Given the description of an element on the screen output the (x, y) to click on. 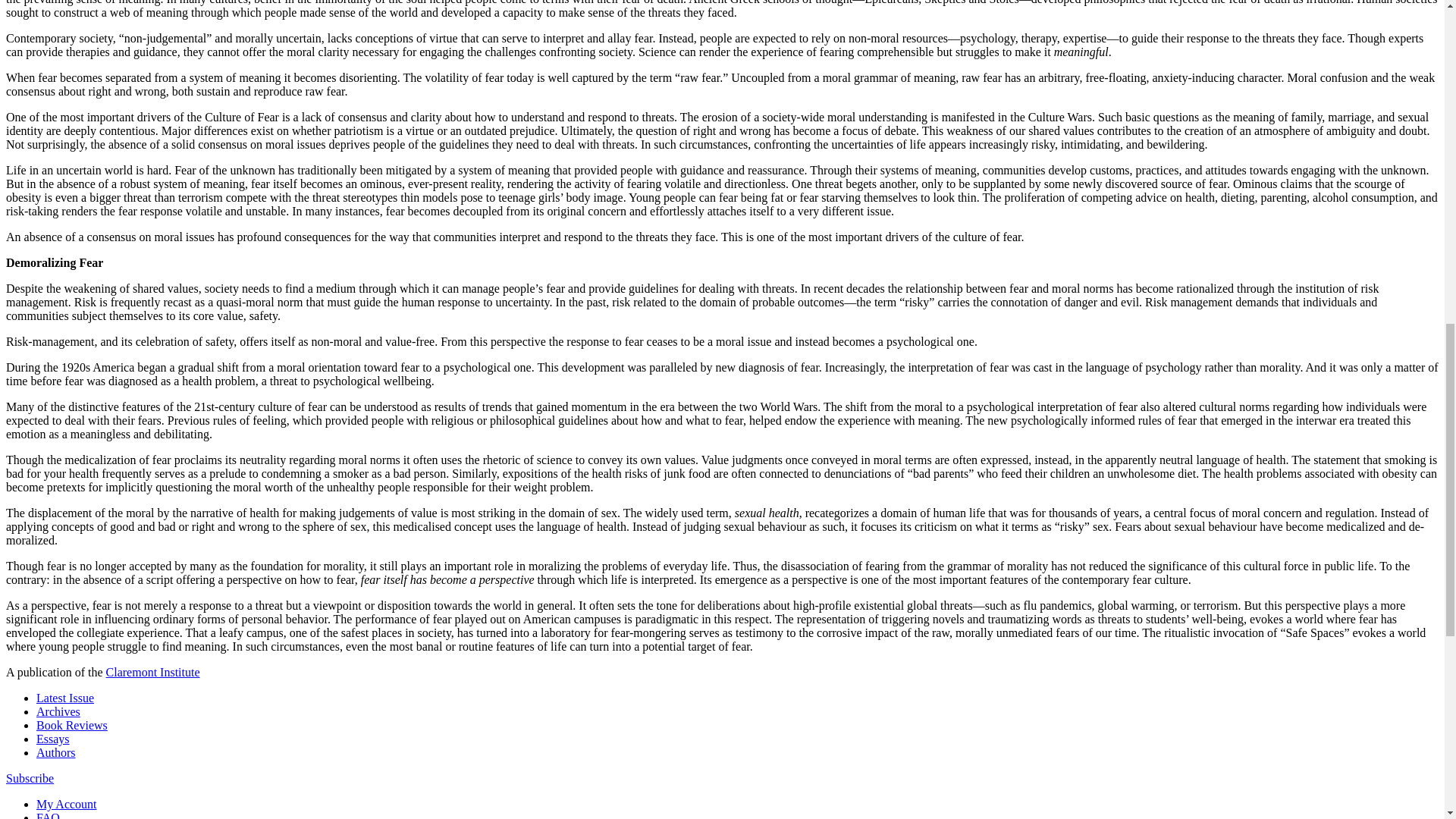
Authors (55, 752)
Book Reviews (71, 725)
Latest Issue (65, 697)
Essays (52, 738)
Archives (58, 711)
Claremont Institute (153, 671)
Summer 2024 (65, 697)
